Given the description of an element on the screen output the (x, y) to click on. 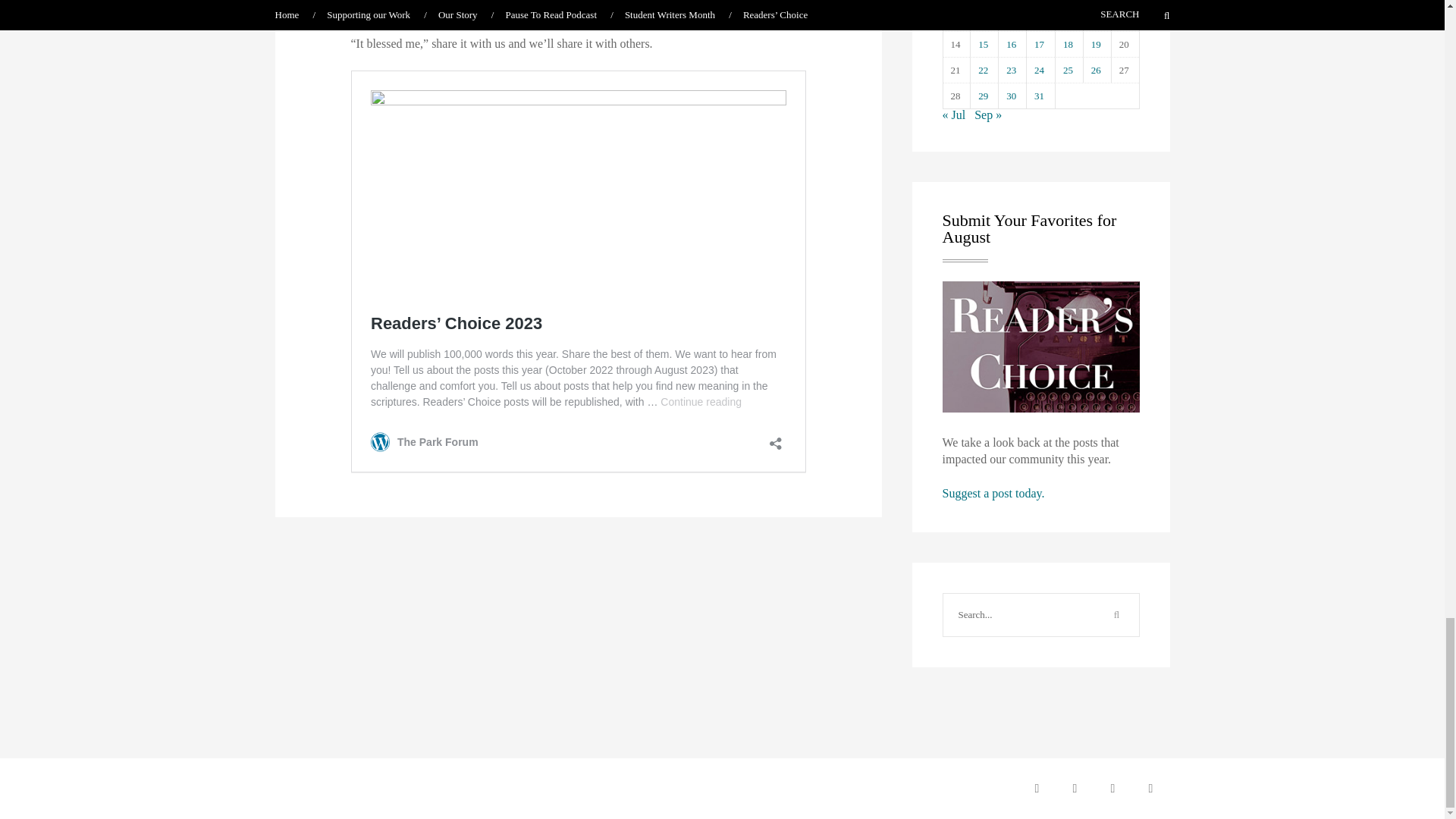
Search... (1018, 614)
